Given the description of an element on the screen output the (x, y) to click on. 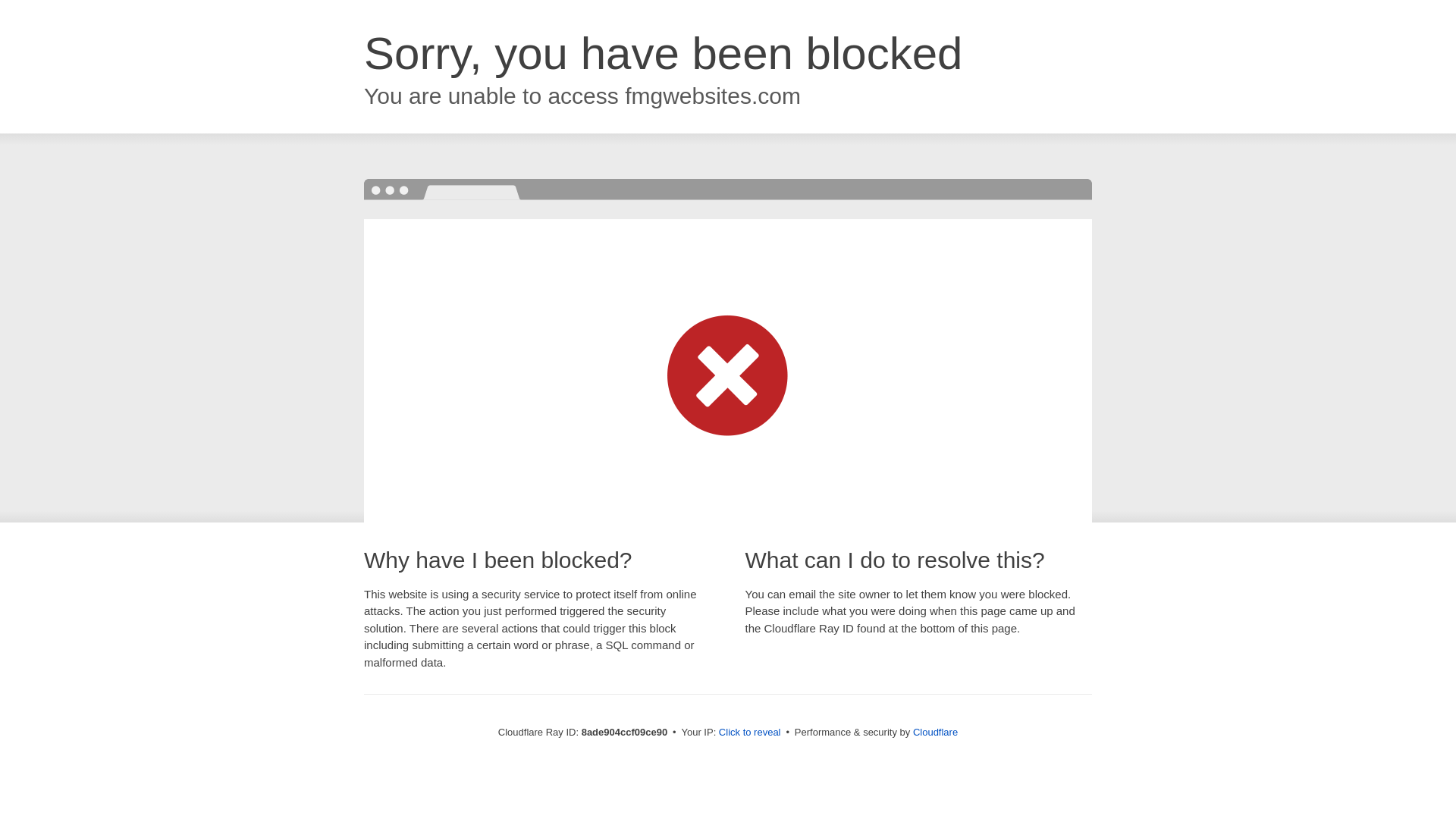
Click to reveal (749, 732)
Cloudflare (935, 731)
